Given the description of an element on the screen output the (x, y) to click on. 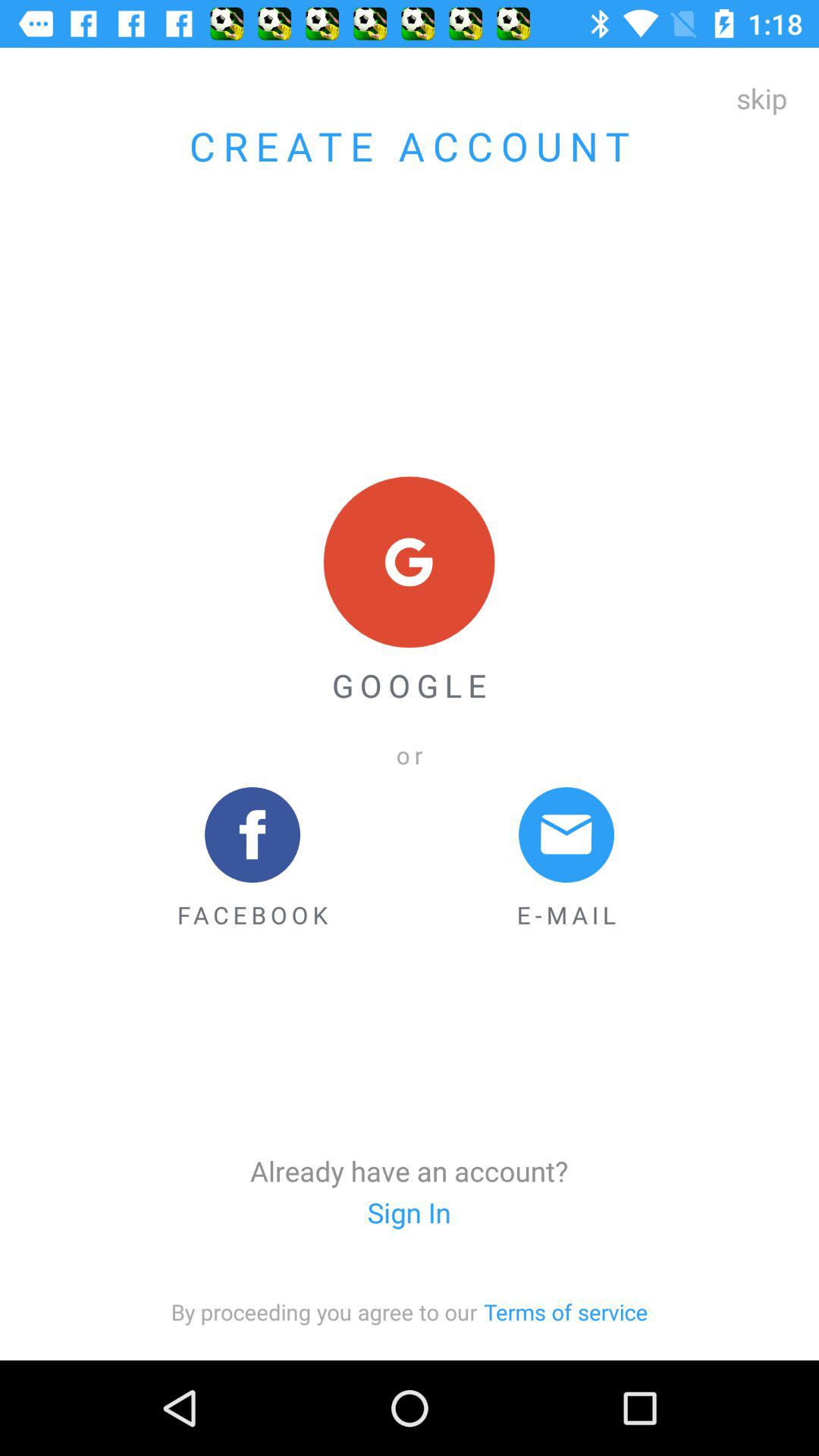
click on facebook (252, 859)
click on message icon (566, 834)
click on icon above google (409, 562)
click on skip at top right corner (761, 98)
click the button terms of service on the web page (565, 1311)
